Given the description of an element on the screen output the (x, y) to click on. 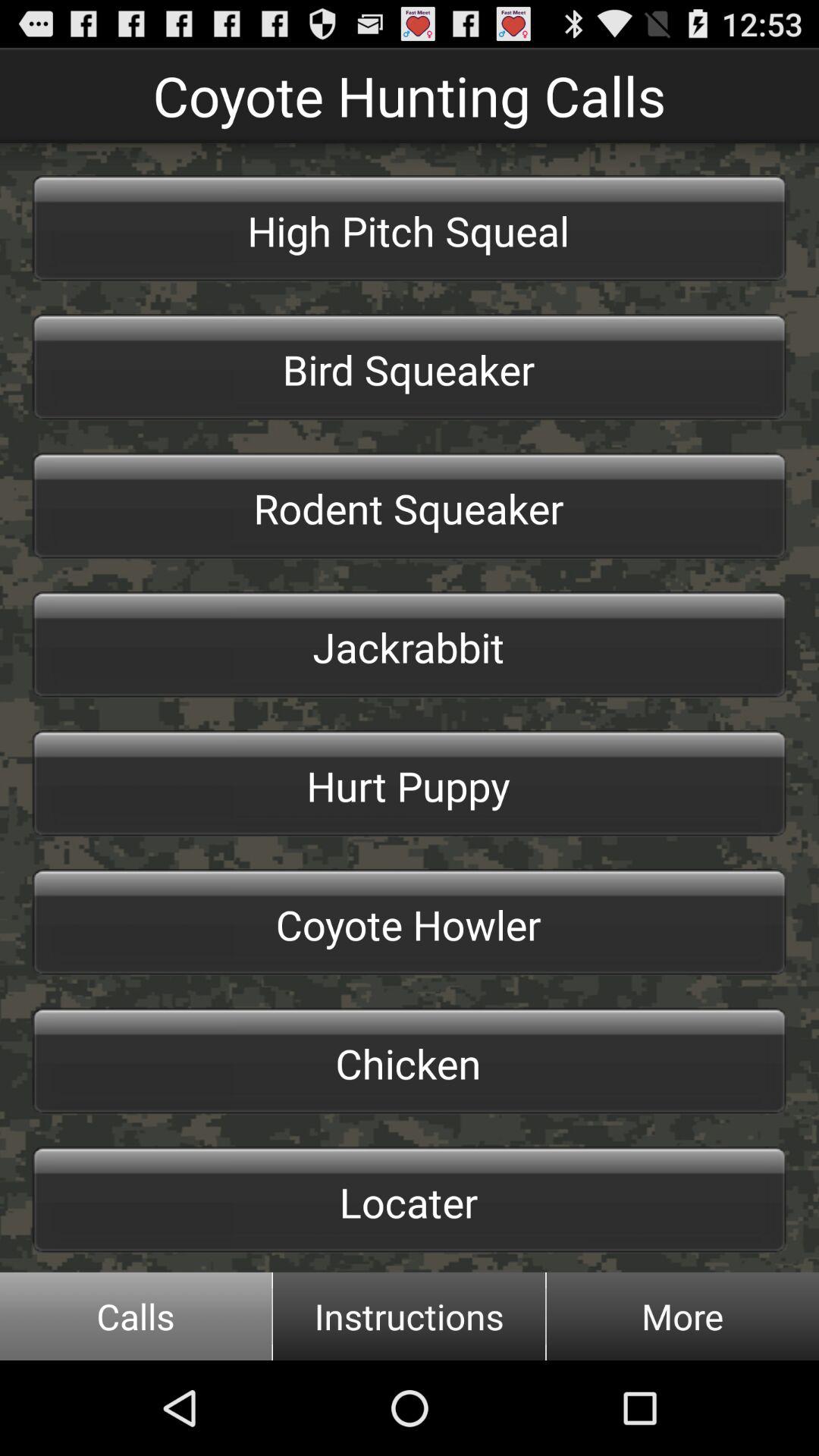
swipe until the jackrabbit item (409, 644)
